Given the description of an element on the screen output the (x, y) to click on. 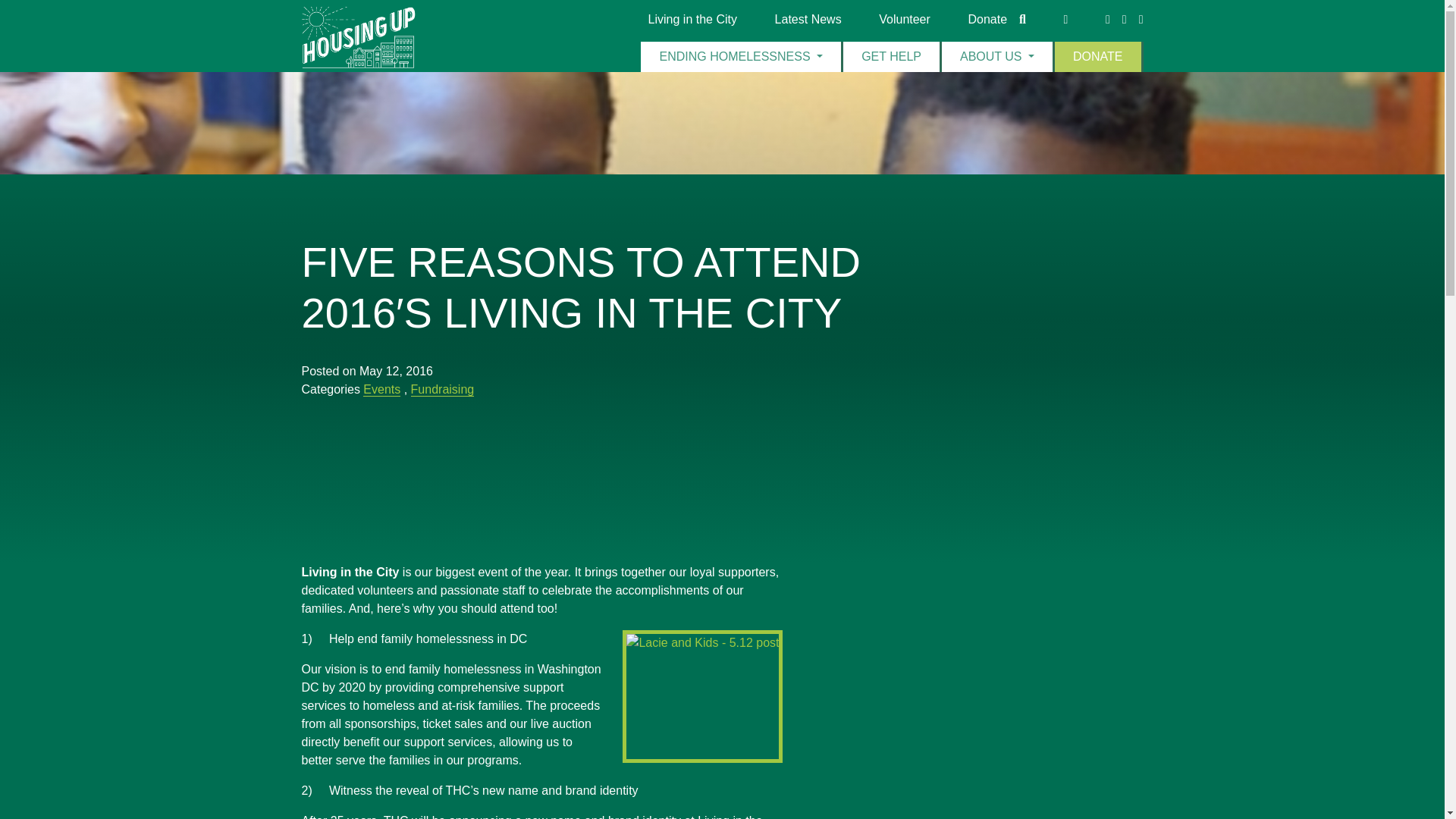
ENDING HOMELESSNESS (741, 56)
About Us (998, 56)
Events (381, 389)
Housing Up (357, 37)
Volunteer (904, 19)
Ending Homelessness (741, 56)
Donate (987, 19)
DONATE (1098, 56)
Fundraising (442, 389)
GET HELP (892, 56)
